Given the description of an element on the screen output the (x, y) to click on. 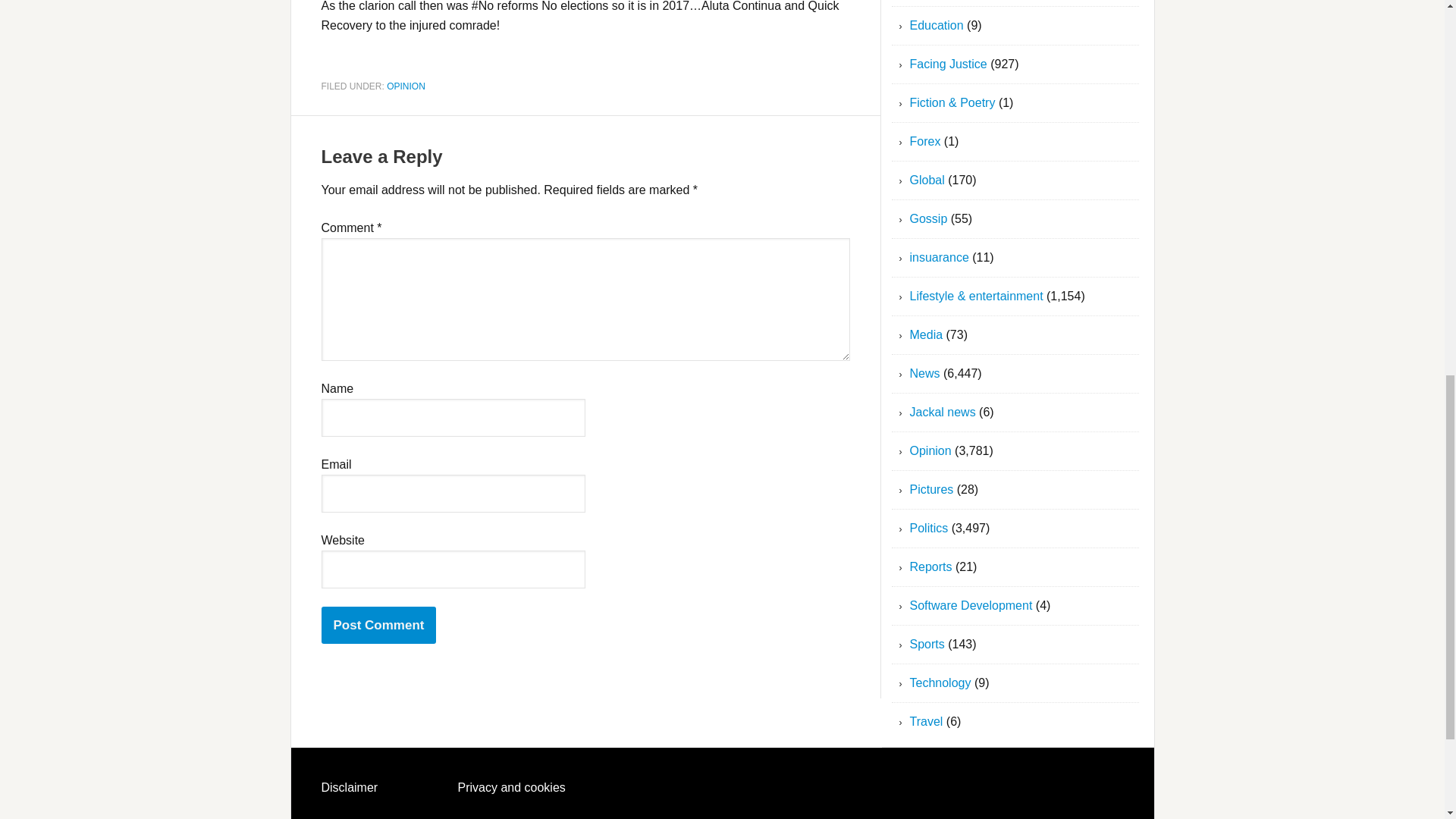
Facing Justice (948, 63)
News (925, 373)
Forex (925, 141)
Gossip (928, 218)
Post Comment (378, 624)
Media (926, 334)
OPINION (406, 85)
Jackal news (942, 411)
Reports (931, 566)
Pictures (931, 489)
Education (936, 24)
Post Comment (378, 624)
insuarance (939, 256)
Politics (929, 527)
Opinion (931, 450)
